Given the description of an element on the screen output the (x, y) to click on. 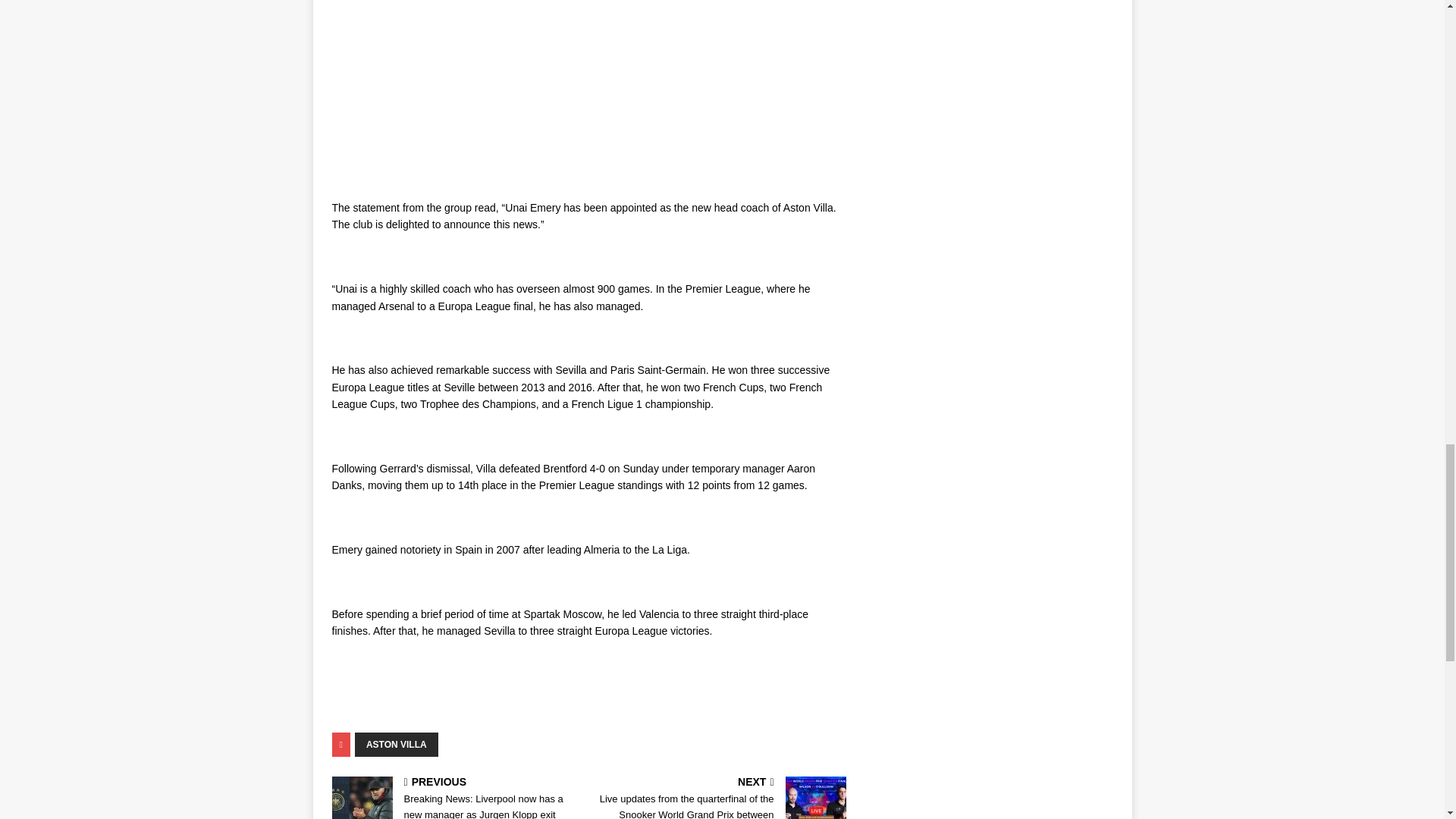
ASTON VILLA (396, 744)
